Given the description of an element on the screen output the (x, y) to click on. 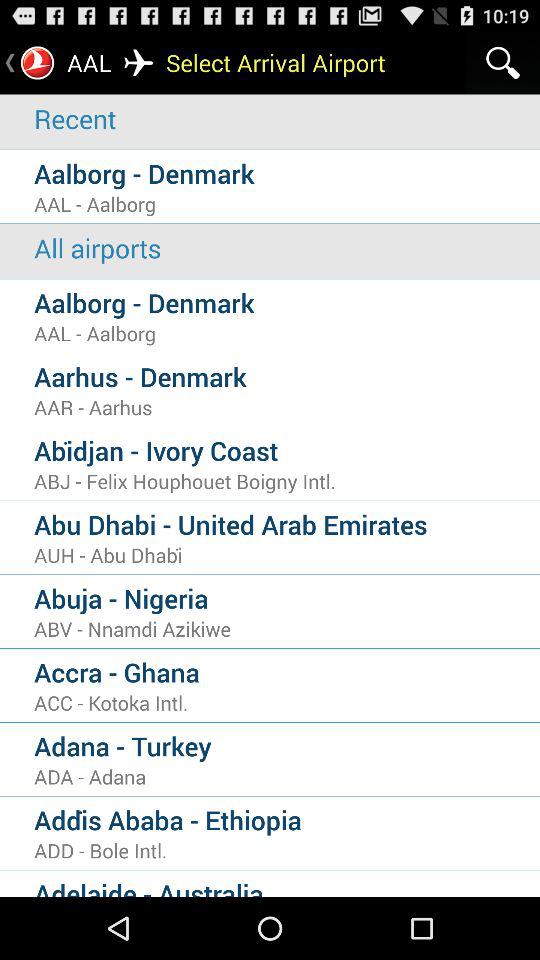
choose all airports item (287, 247)
